Given the description of an element on the screen output the (x, y) to click on. 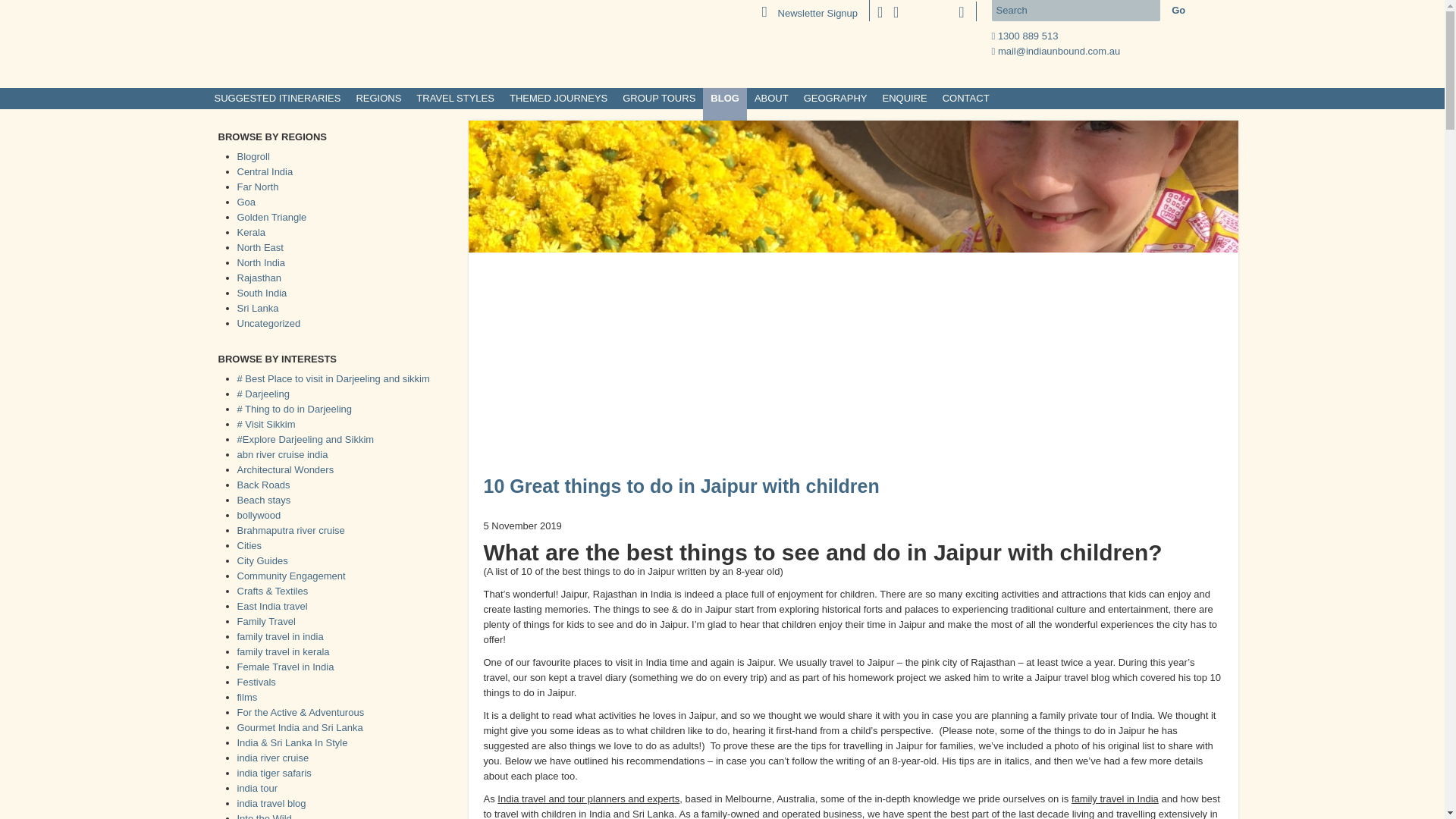
1300 889 513 (1027, 35)
GEOGRAPHY (835, 98)
India Unbound (304, 41)
BLOG (724, 98)
REGIONS (378, 98)
Go (1177, 10)
THEMED JOURNEYS (558, 98)
GROUP TOURS (659, 98)
Skip to primary content (50, 7)
Newsletter Signup (809, 12)
